Given the description of an element on the screen output the (x, y) to click on. 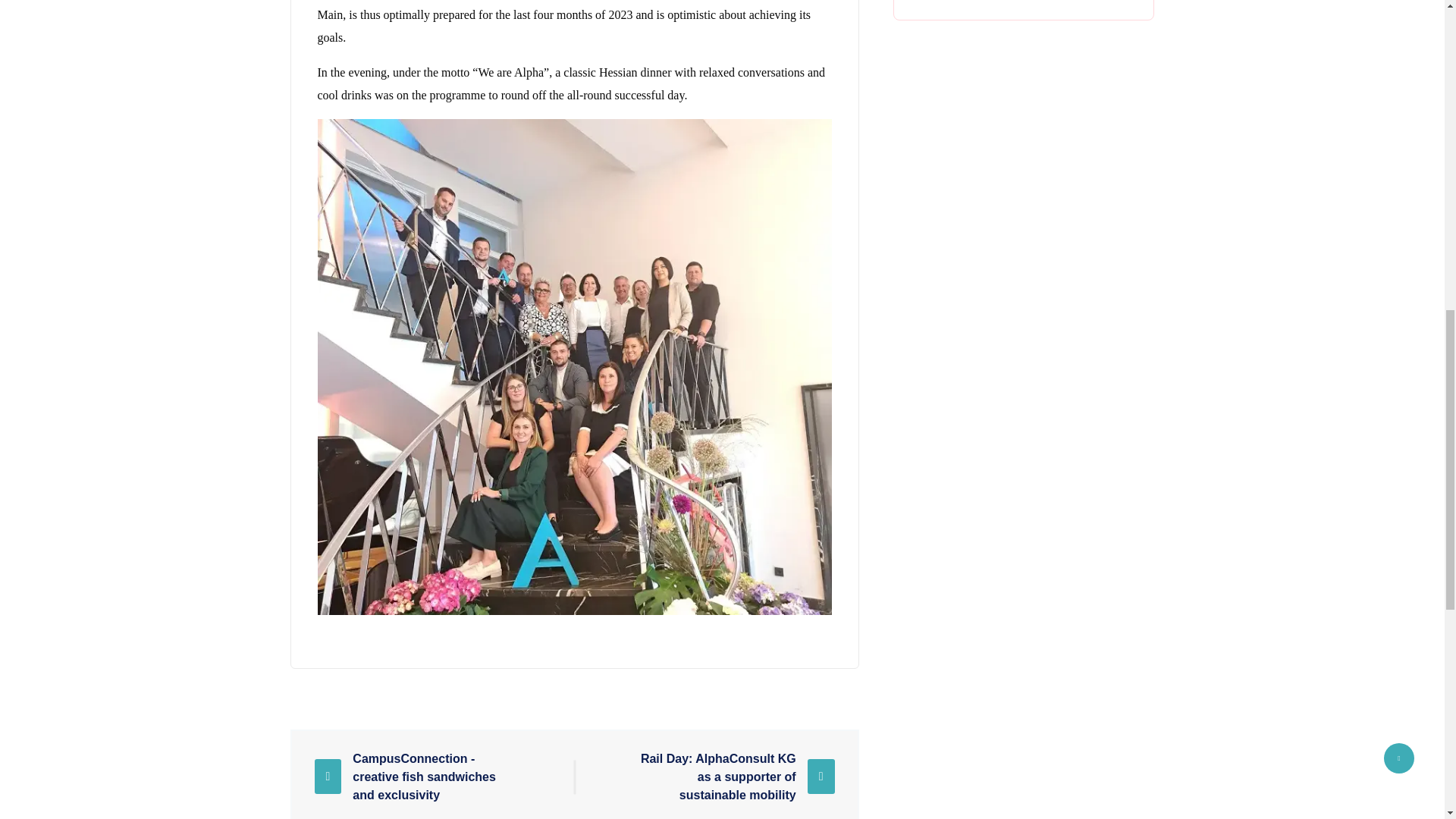
CampusConnection - creative fish sandwiches and exclusivity (415, 775)
